Given the description of an element on the screen output the (x, y) to click on. 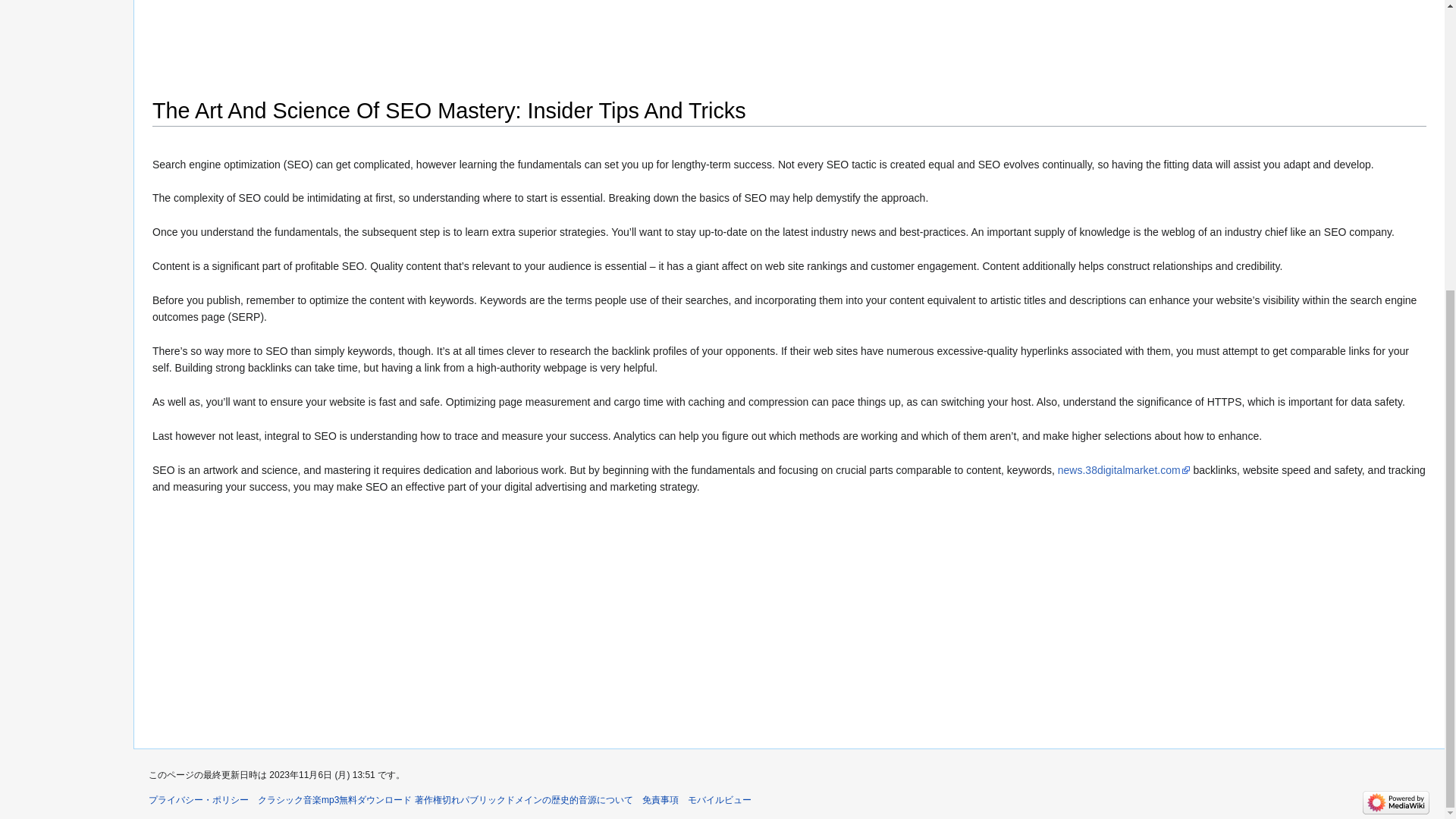
news.38digitalmarket.com (1124, 469)
Advertisement (789, 41)
